Given the description of an element on the screen output the (x, y) to click on. 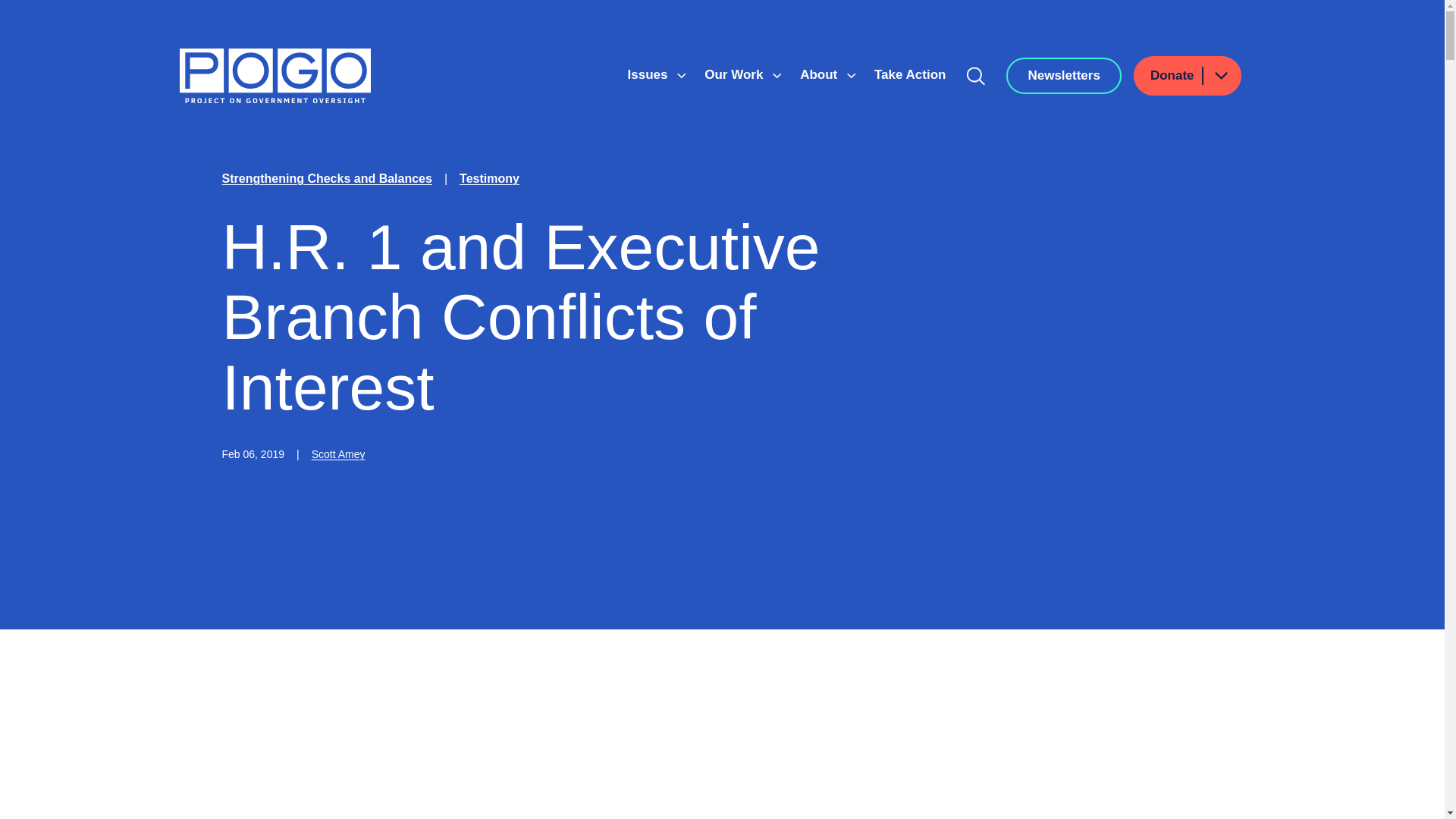
Show submenu for Donate (1220, 75)
Newsletters (1063, 75)
Donate (1187, 75)
Show submenu for Our Work (777, 75)
Show submenu for About (851, 75)
Search (976, 75)
About (820, 74)
Our Work (735, 74)
Home (274, 75)
Take Action (909, 74)
